Given the description of an element on the screen output the (x, y) to click on. 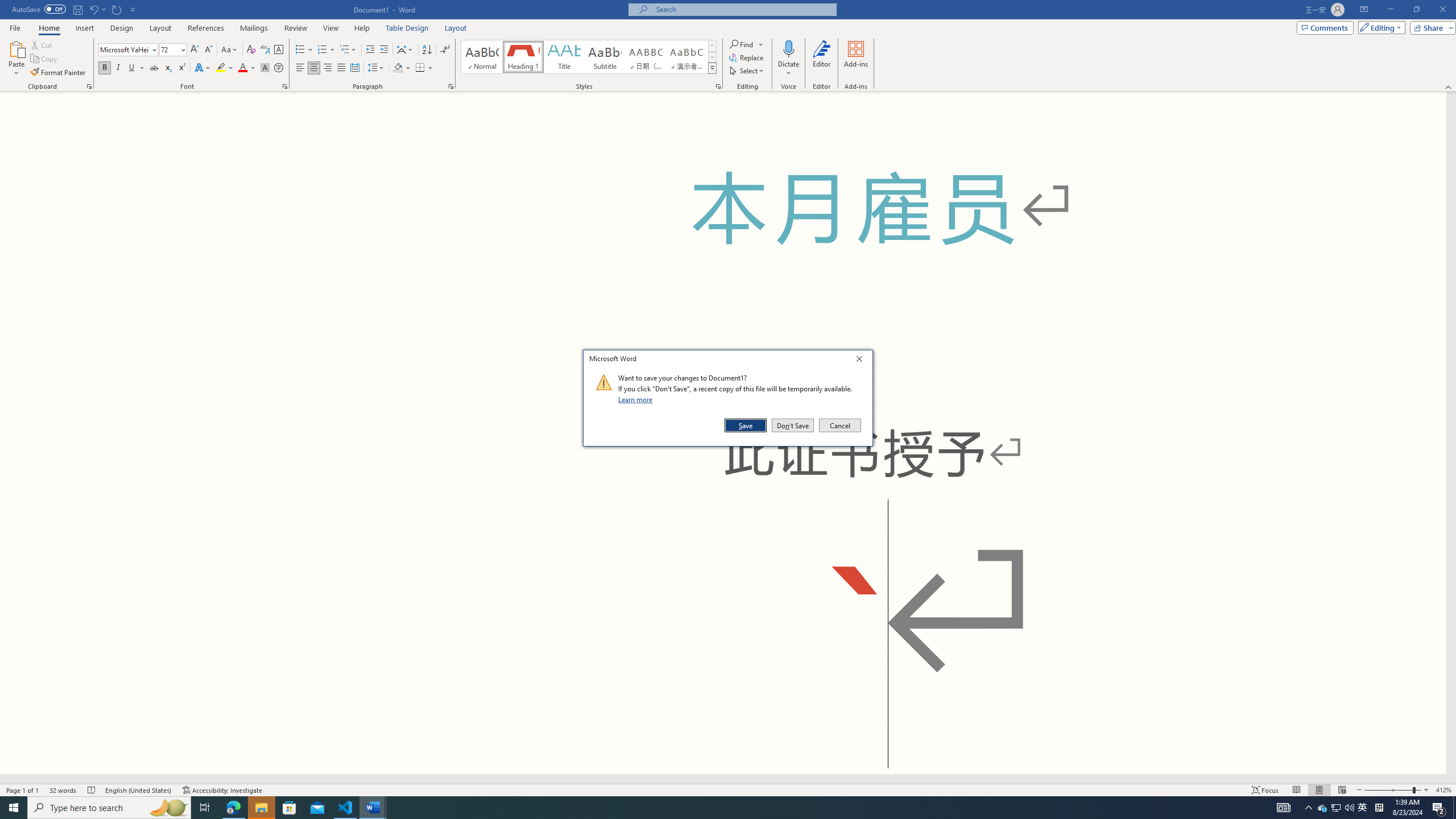
Running applications (700, 807)
